Given the description of an element on the screen output the (x, y) to click on. 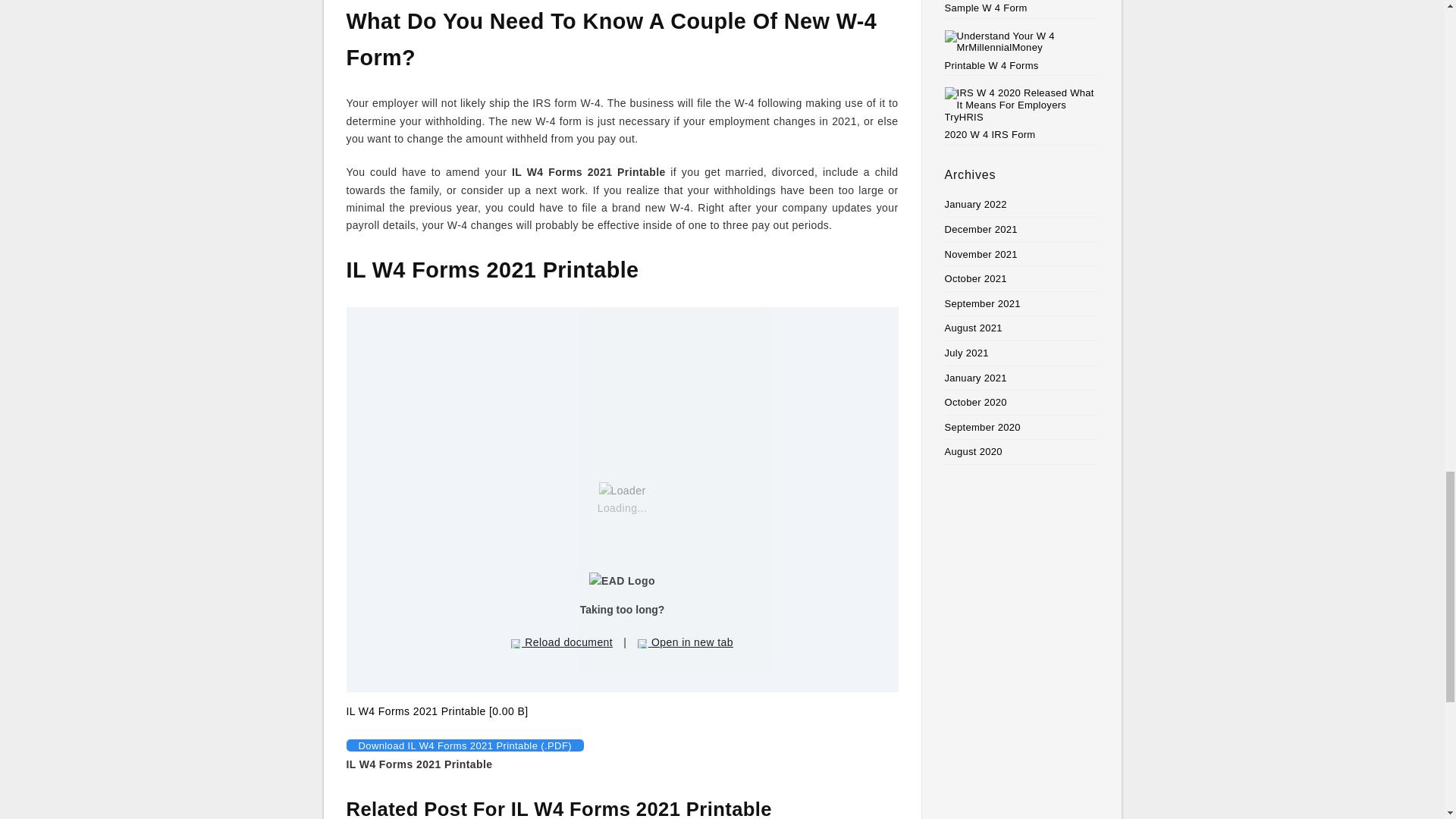
EAD logo (622, 580)
loading (622, 490)
open (641, 643)
reload (515, 643)
Open in new tab (685, 642)
